Given the description of an element on the screen output the (x, y) to click on. 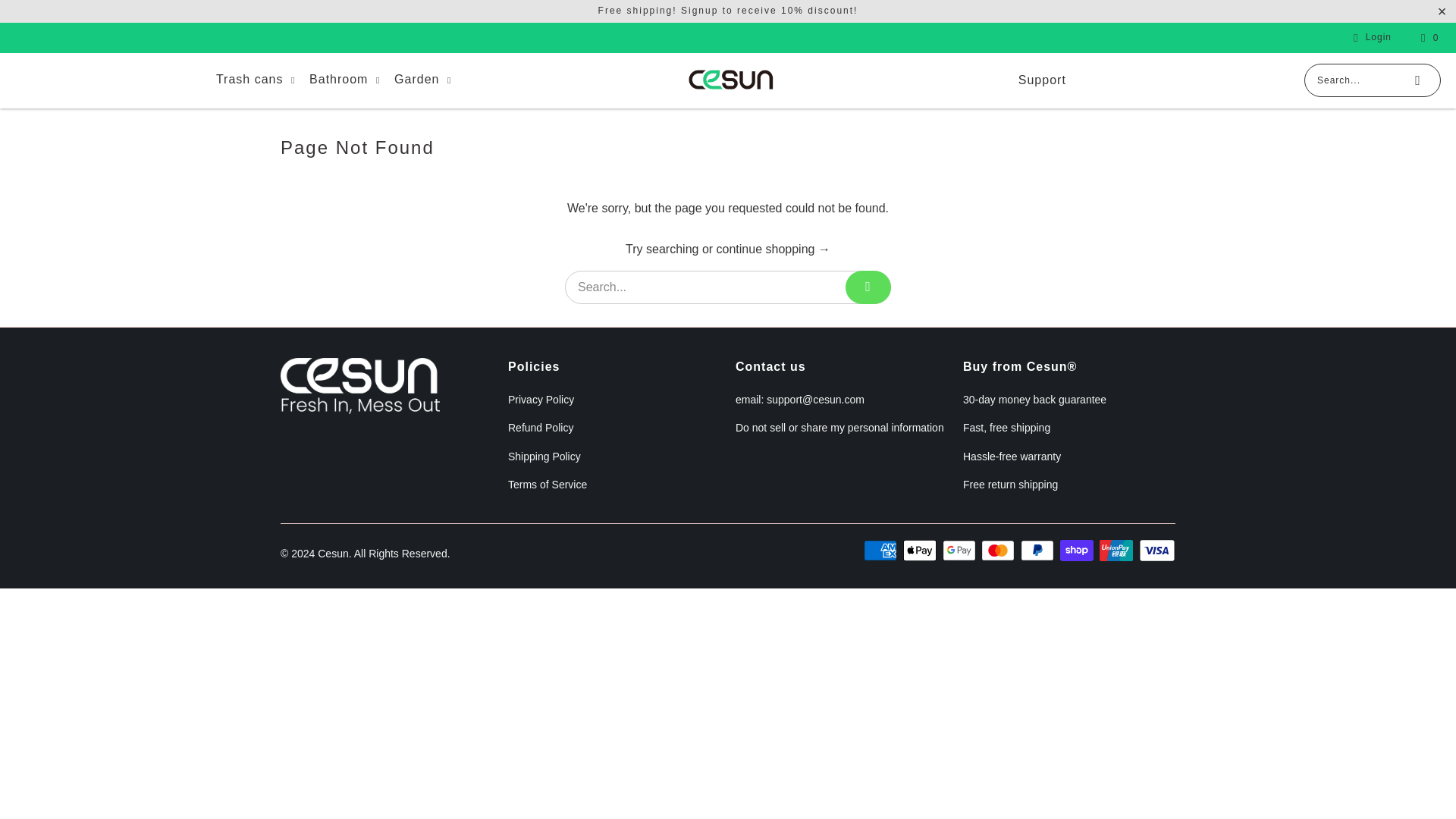
PayPal (1038, 549)
Union Pay (1117, 549)
My Account  (1369, 37)
Visa (1156, 549)
American Express (881, 549)
Apple Pay (920, 549)
Mastercard (999, 549)
Login (1369, 37)
Cesun (730, 80)
Google Pay (960, 549)
Shop Pay (1077, 549)
